Given the description of an element on the screen output the (x, y) to click on. 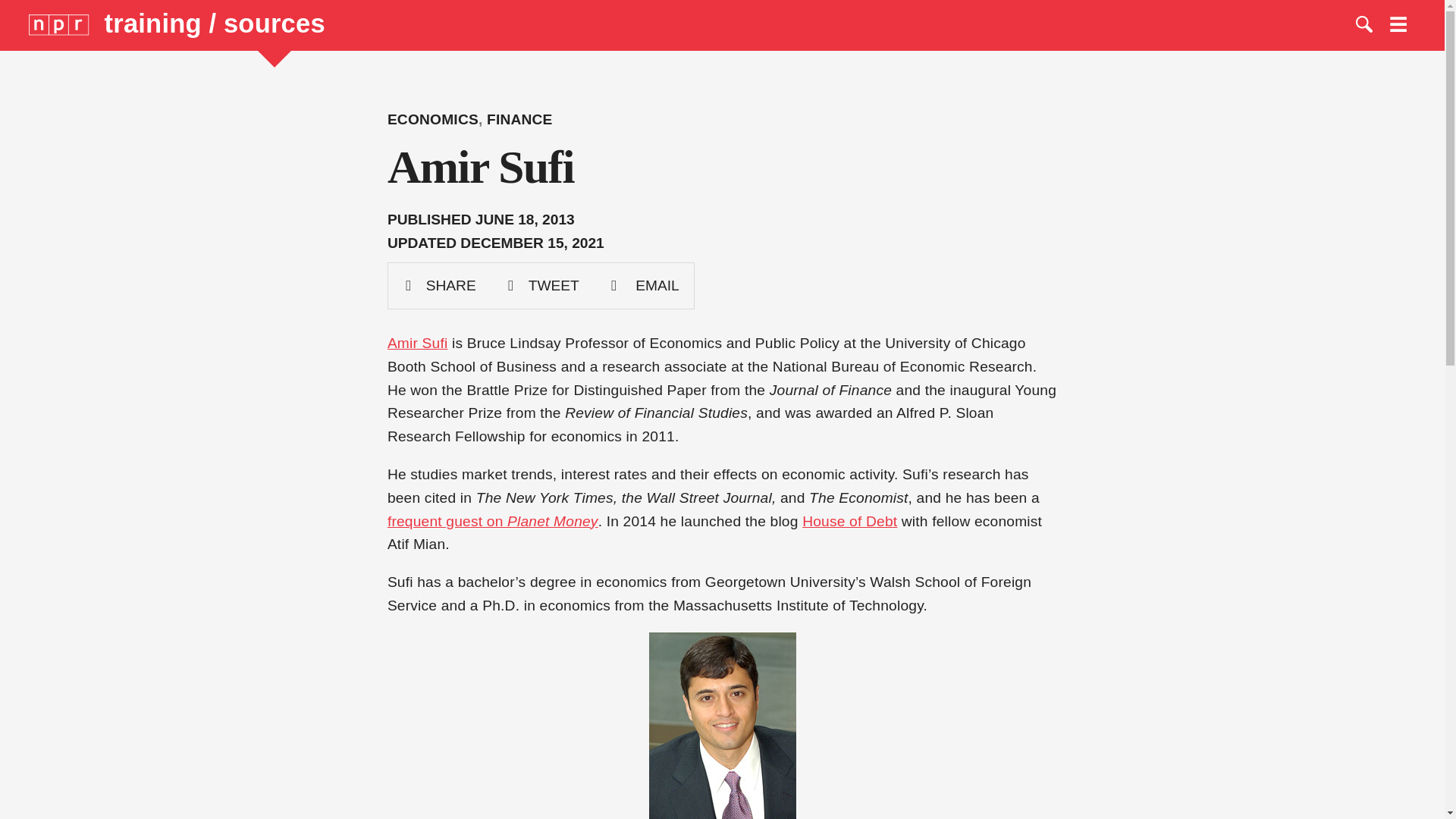
EMAIL (644, 285)
Amir Sufi (417, 342)
training (156, 23)
ECONOMICS (433, 119)
House of Debt (849, 520)
FINANCE (519, 119)
frequent guest on Planet Money (492, 520)
sources (274, 23)
TWEET (542, 285)
SHARE (439, 285)
